Given the description of an element on the screen output the (x, y) to click on. 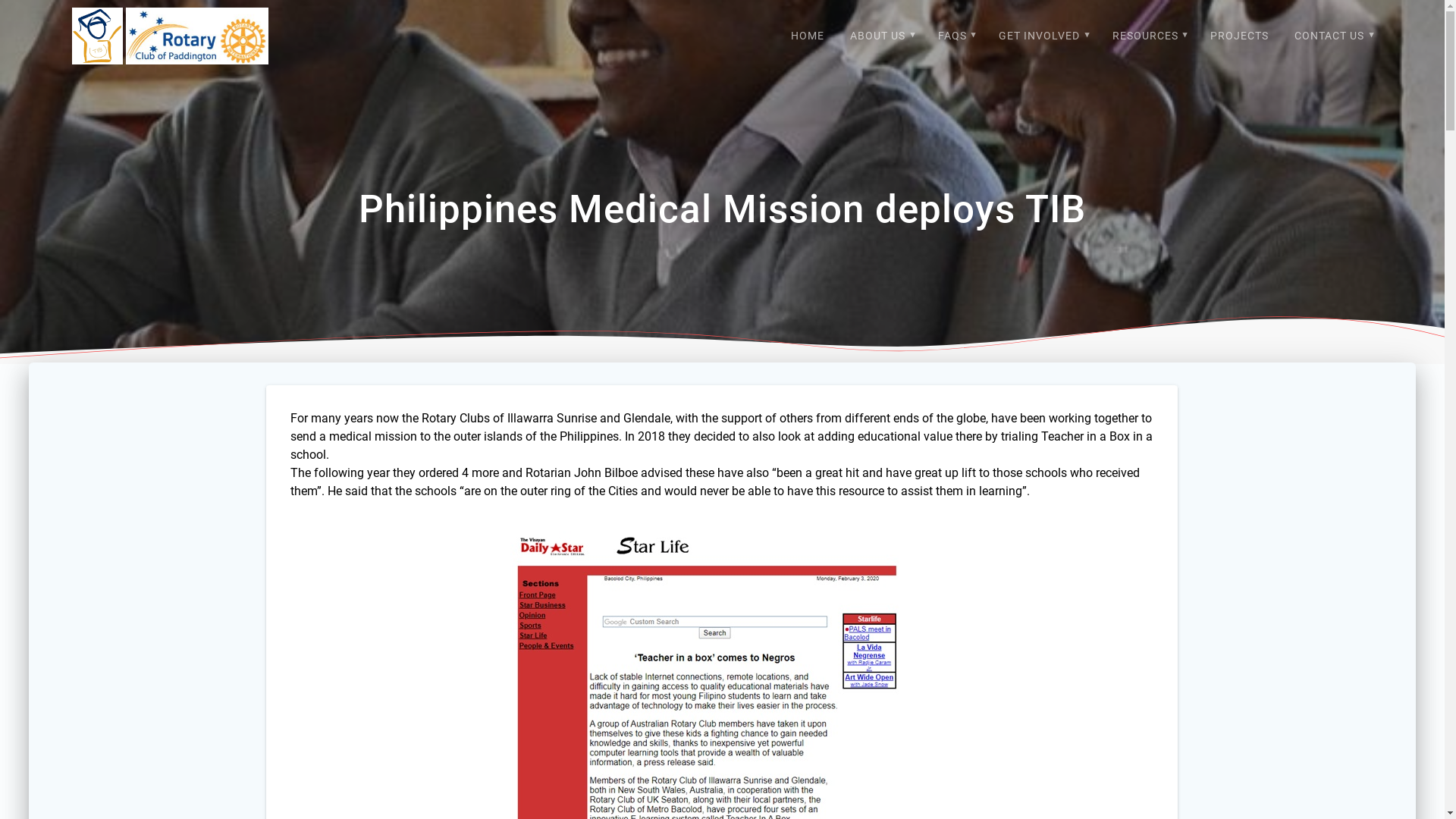
ABOUT US Element type: text (881, 35)
GET INVOLVED Element type: text (1042, 35)
RESOURCES Element type: text (1148, 35)
FAQS Element type: text (955, 35)
PROJECTS Element type: text (1239, 35)
HOME Element type: text (807, 35)
CONTACT US Element type: text (1332, 35)
Skip to content Element type: text (0, 0)
